Given the description of an element on the screen output the (x, y) to click on. 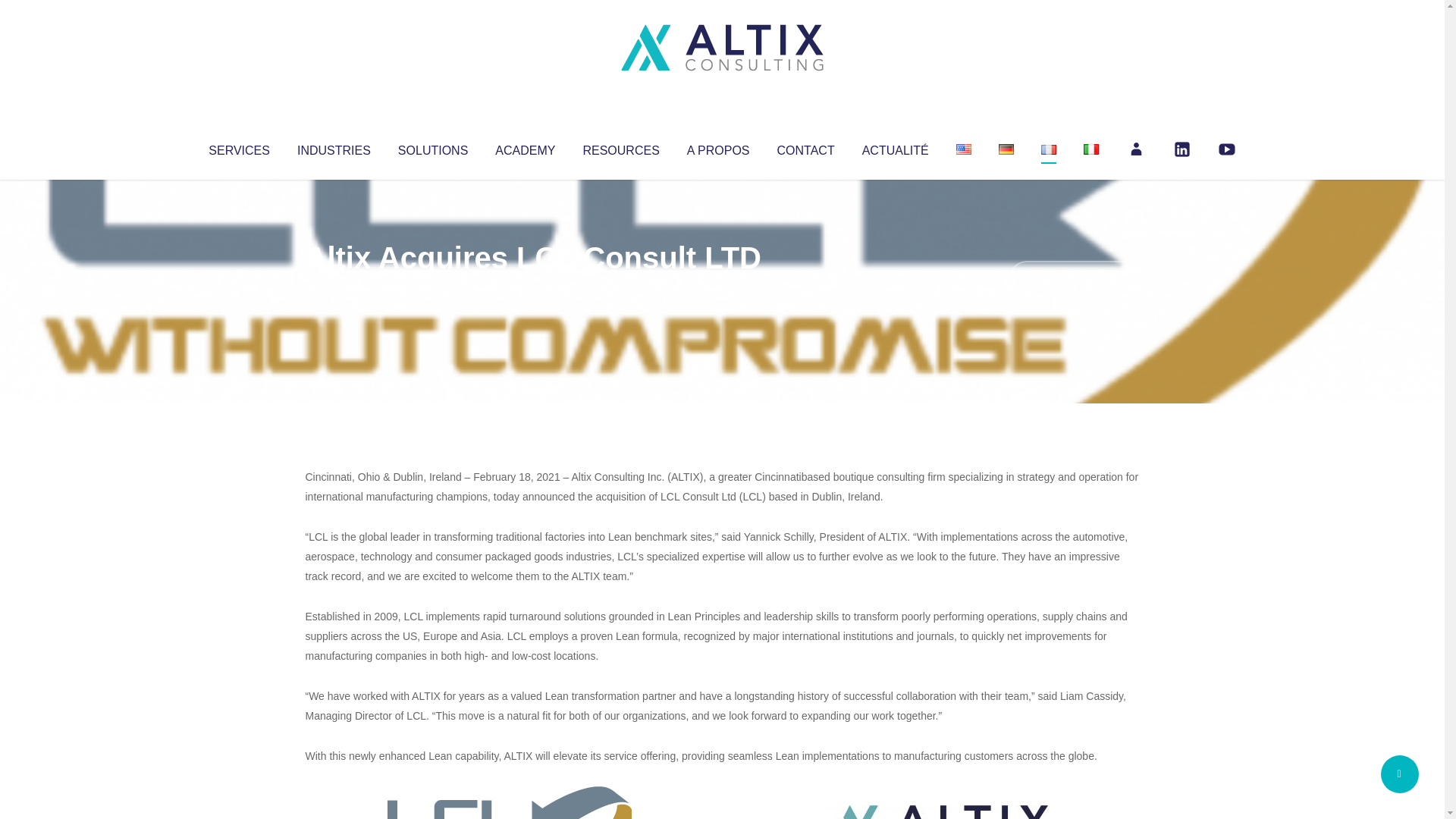
SERVICES (238, 146)
INDUSTRIES (334, 146)
Uncategorized (530, 287)
Articles par Altix (333, 287)
ACADEMY (524, 146)
No Comments (1073, 278)
RESOURCES (620, 146)
SOLUTIONS (432, 146)
A PROPOS (718, 146)
Altix (333, 287)
